Given the description of an element on the screen output the (x, y) to click on. 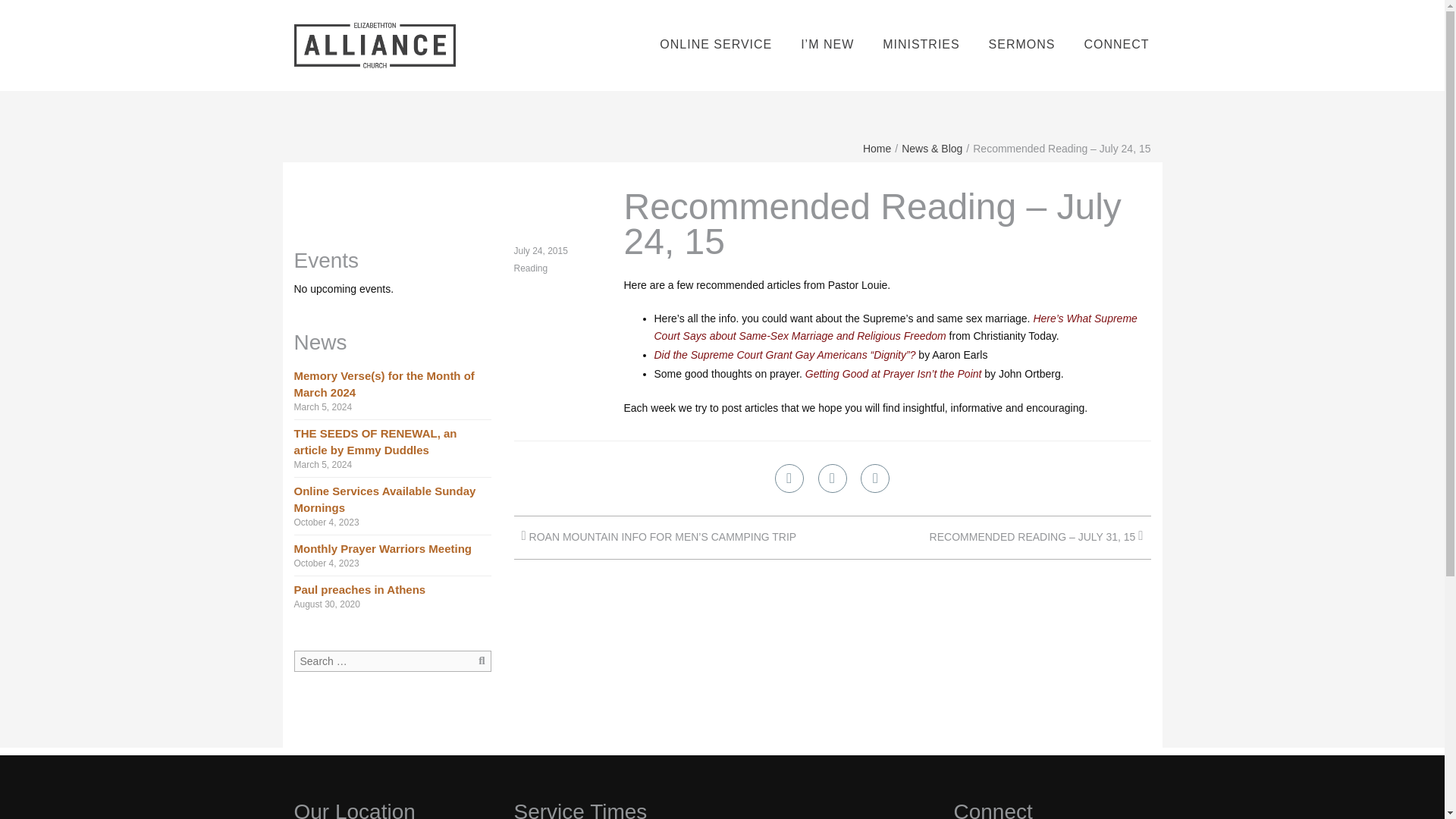
Home (877, 148)
July 24, 2015 (540, 250)
ONLINE SERVICE (715, 44)
CONNECT (1115, 44)
Events (326, 259)
Online Services Available Sunday Mornings (385, 499)
THE SEEDS OF RENEWAL, an article by Emmy Duddles (375, 441)
MINISTRIES (920, 44)
Paul preaches in Athens (360, 589)
Reading (530, 267)
